Given the description of an element on the screen output the (x, y) to click on. 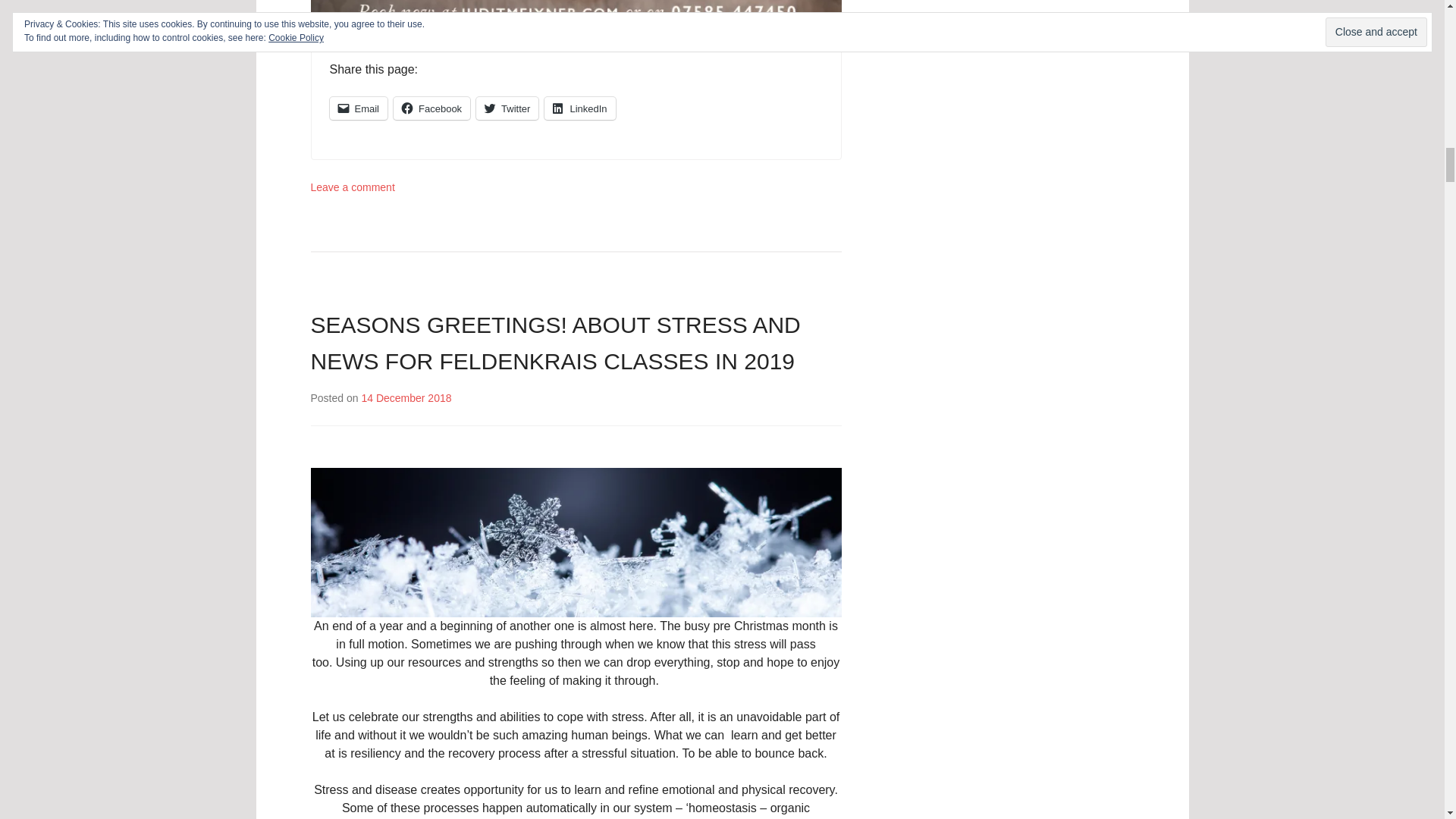
14 December 2018 (406, 398)
Twitter (507, 108)
Email (358, 108)
LinkedIn (579, 108)
Click to share on Facebook (431, 108)
Click to share on Twitter (507, 108)
Leave a comment (352, 186)
Facebook (431, 108)
Click to share on LinkedIn (579, 108)
Click to email a link to a friend (358, 108)
